Given the description of an element on the screen output the (x, y) to click on. 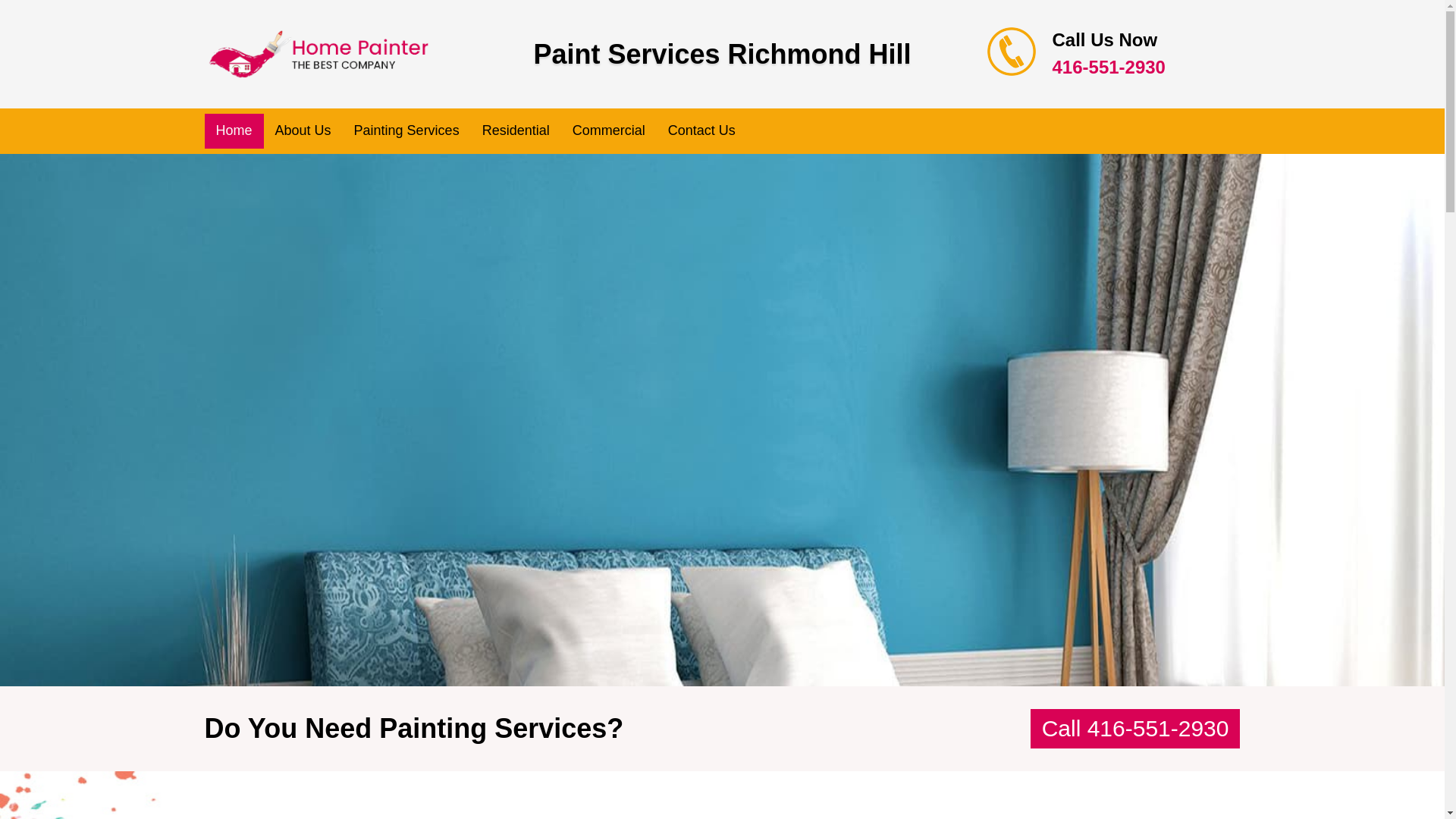
Residential (515, 130)
Contact Us (701, 130)
About Us (302, 130)
Call 416-551-2930 (1135, 729)
Commercial (608, 130)
Home (234, 130)
416-551-2930 (1109, 67)
Painting Services (406, 130)
